Given the description of an element on the screen output the (x, y) to click on. 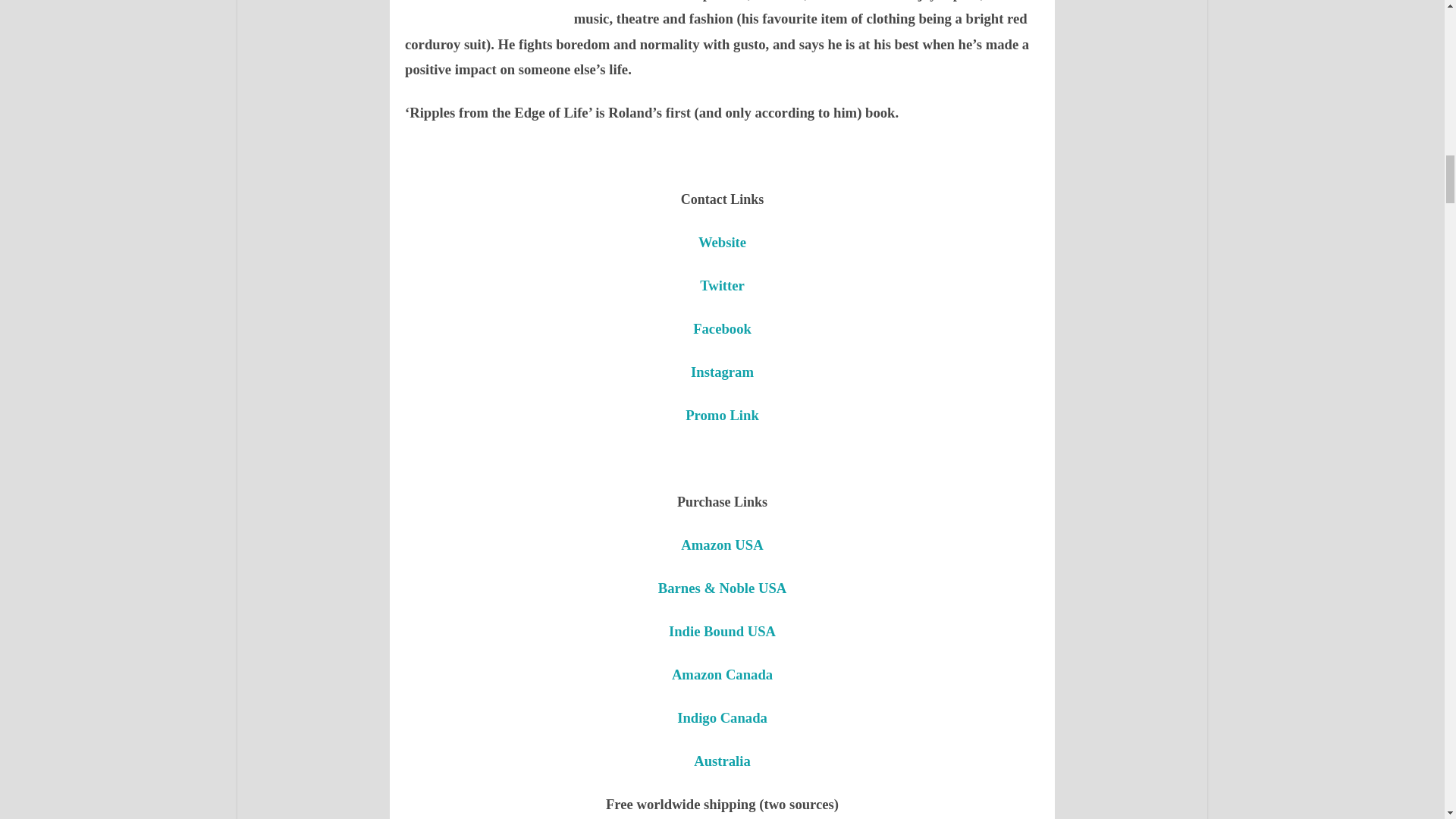
Instagram (722, 371)
Amazon USA (721, 544)
Indigo Canada (722, 717)
Indie Bound USA (722, 631)
Facebook (722, 328)
Website (721, 242)
Australia (722, 760)
Twitter (722, 285)
Promo Link (721, 415)
Amazon Canada (722, 674)
